Given the description of an element on the screen output the (x, y) to click on. 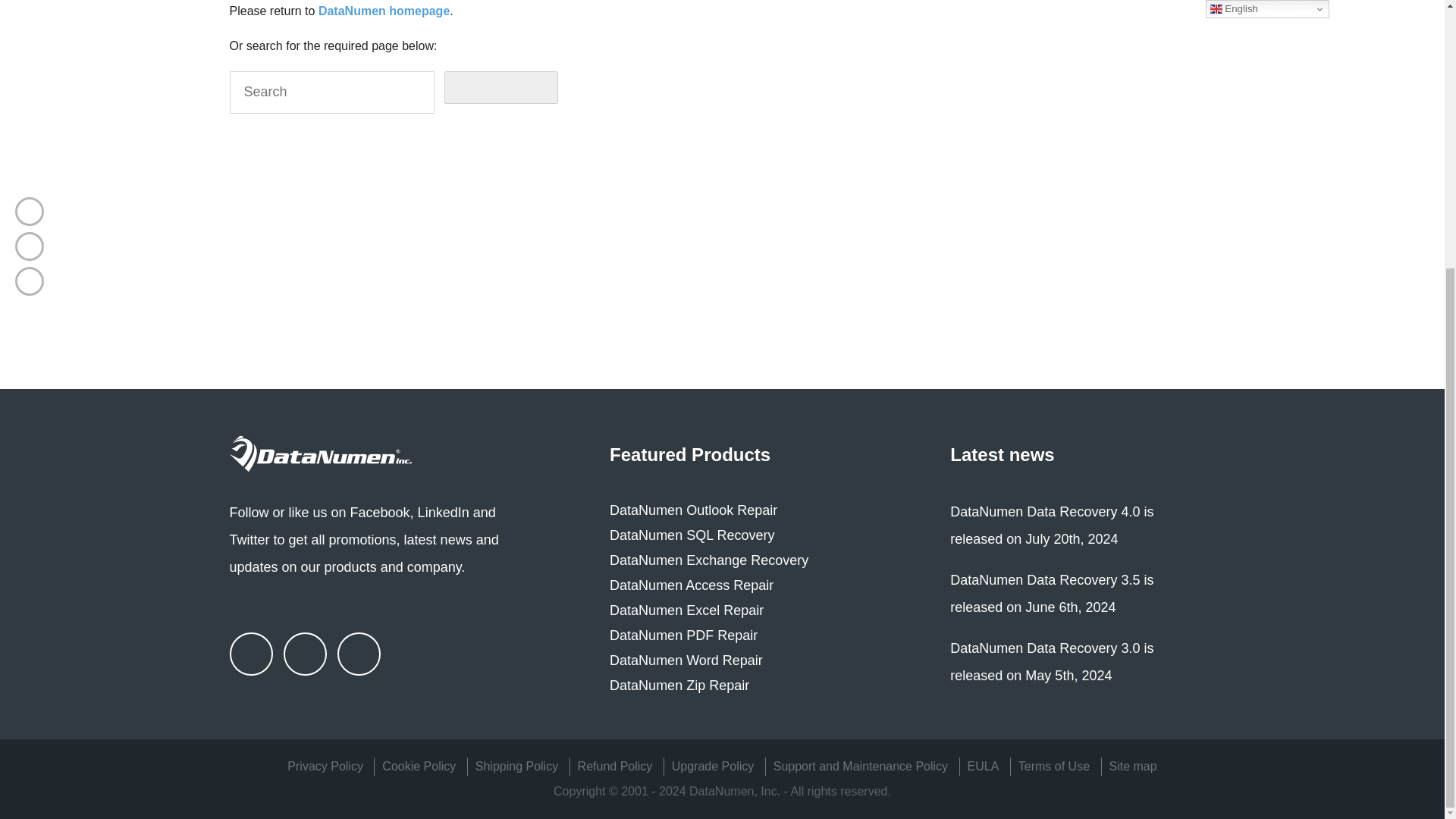
Search for: (330, 92)
